Given the description of an element on the screen output the (x, y) to click on. 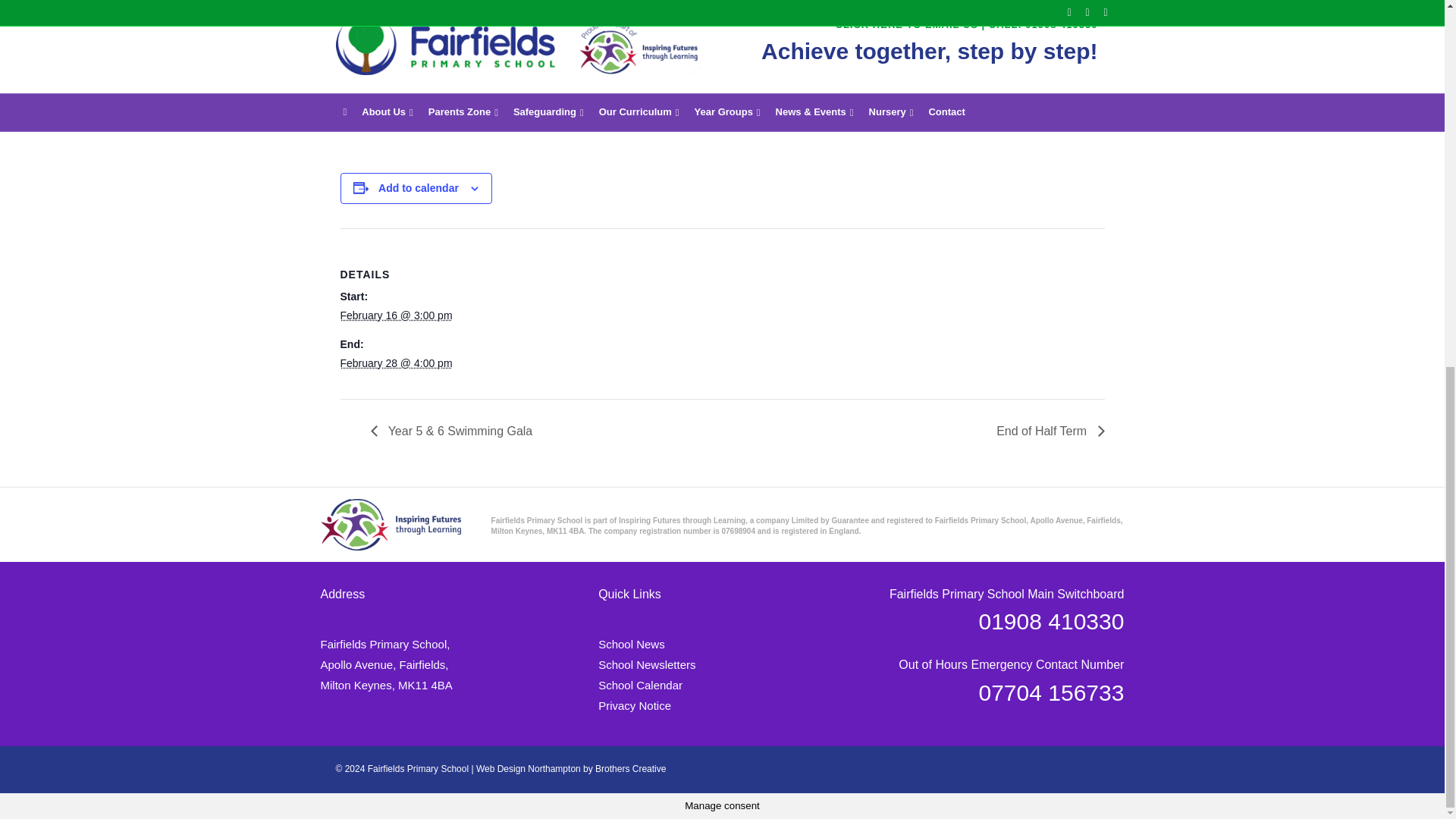
Website Design (528, 768)
2024-02-16 (395, 315)
iftl footer logo (390, 524)
2024-02-28 (395, 363)
